Given the description of an element on the screen output the (x, y) to click on. 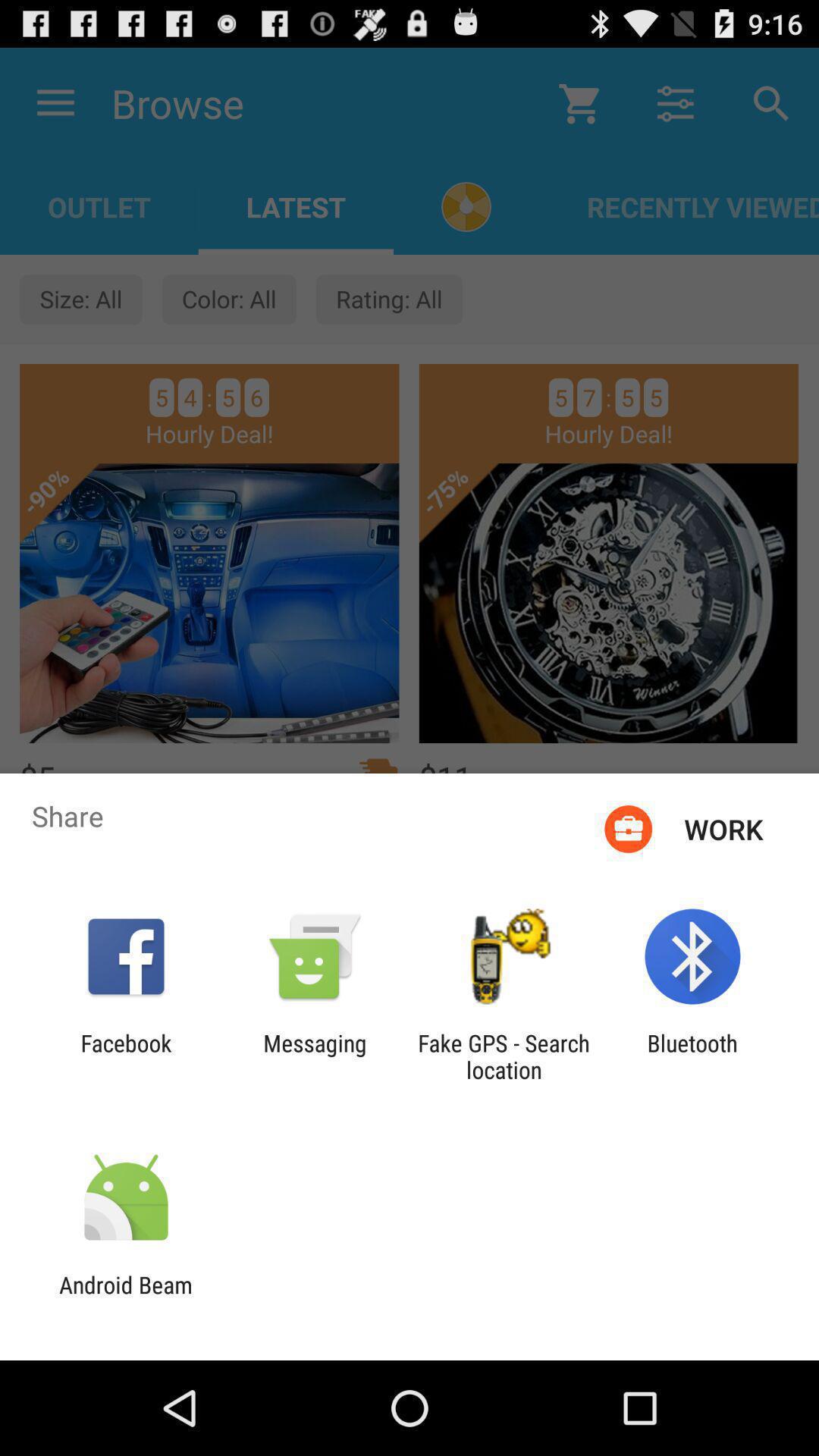
choose app to the left of fake gps search icon (314, 1056)
